Given the description of an element on the screen output the (x, y) to click on. 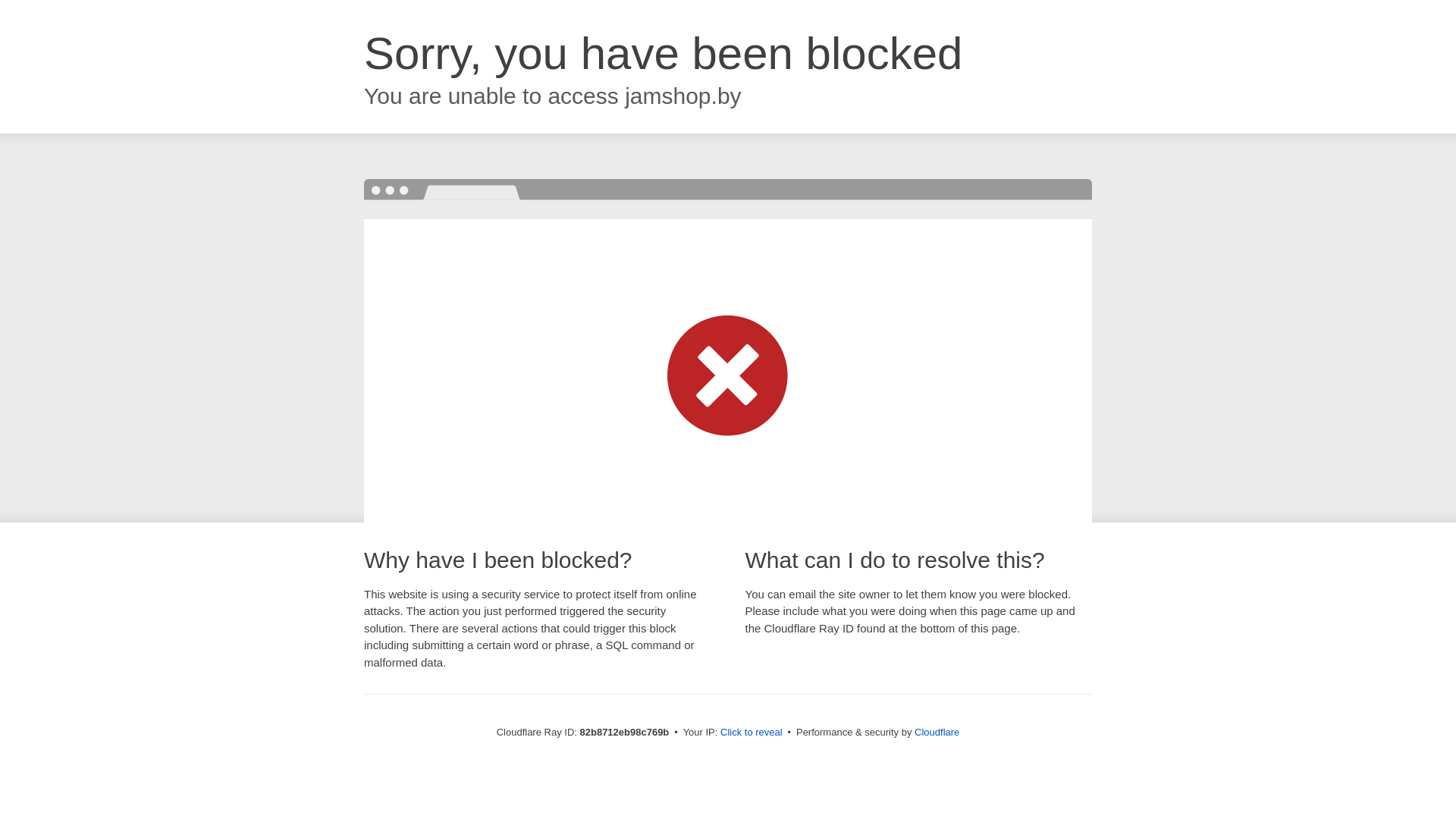
Cloudflare Element type: text (936, 731)
Click to reveal Element type: text (751, 732)
